Given the description of an element on the screen output the (x, y) to click on. 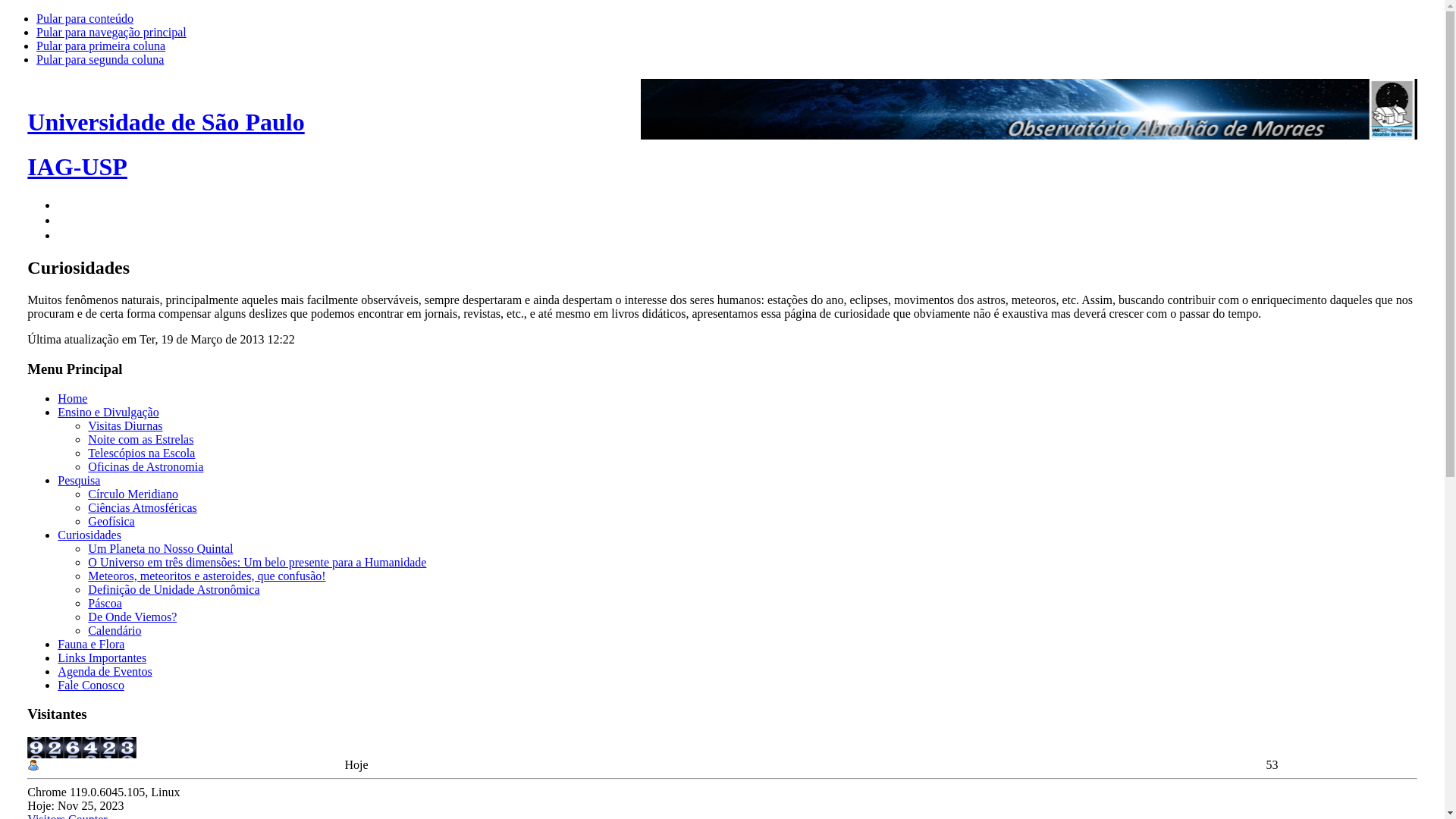
Noite com as Estrelas Element type: text (140, 439)
Vinaora Visitors Counter 2.0 Element type: hover (127, 747)
Vinaora Visitors Counter 2.0 Element type: hover (36, 747)
Pesquisa Element type: text (78, 479)
Vinaora Visitors Counter 2.0 Element type: hover (90, 747)
Oficinas de Astronomia Element type: text (145, 466)
Agenda de Eventos Element type: text (104, 671)
Pular para primeira coluna Element type: text (100, 45)
Aumentar tamanho da fonte Element type: hover (63, 203)
Home Element type: text (72, 398)
IAG-USP Element type: text (77, 166)
Vinaora Visitors Counter 2.0 Element type: hover (72, 747)
Visitas Diurnas Element type: text (124, 425)
Pular para segunda coluna Element type: text (99, 59)
Vinaora Visitors Counter 2.0 Element type: hover (54, 747)
Fale Conosco Element type: text (90, 684)
De Onde Viemos? Element type: text (131, 616)
2023-11-24 Element type: hover (33, 765)
Fauna e Flora Element type: text (90, 643)
Links Importantes Element type: text (101, 657)
Um Planeta no Nosso Quintal Element type: text (159, 548)
Diminuir tamanho da fonte Element type: hover (63, 233)
Curiosidades Element type: text (89, 534)
Vinaora Visitors Counter 2.0 Element type: hover (109, 747)
